Given the description of an element on the screen output the (x, y) to click on. 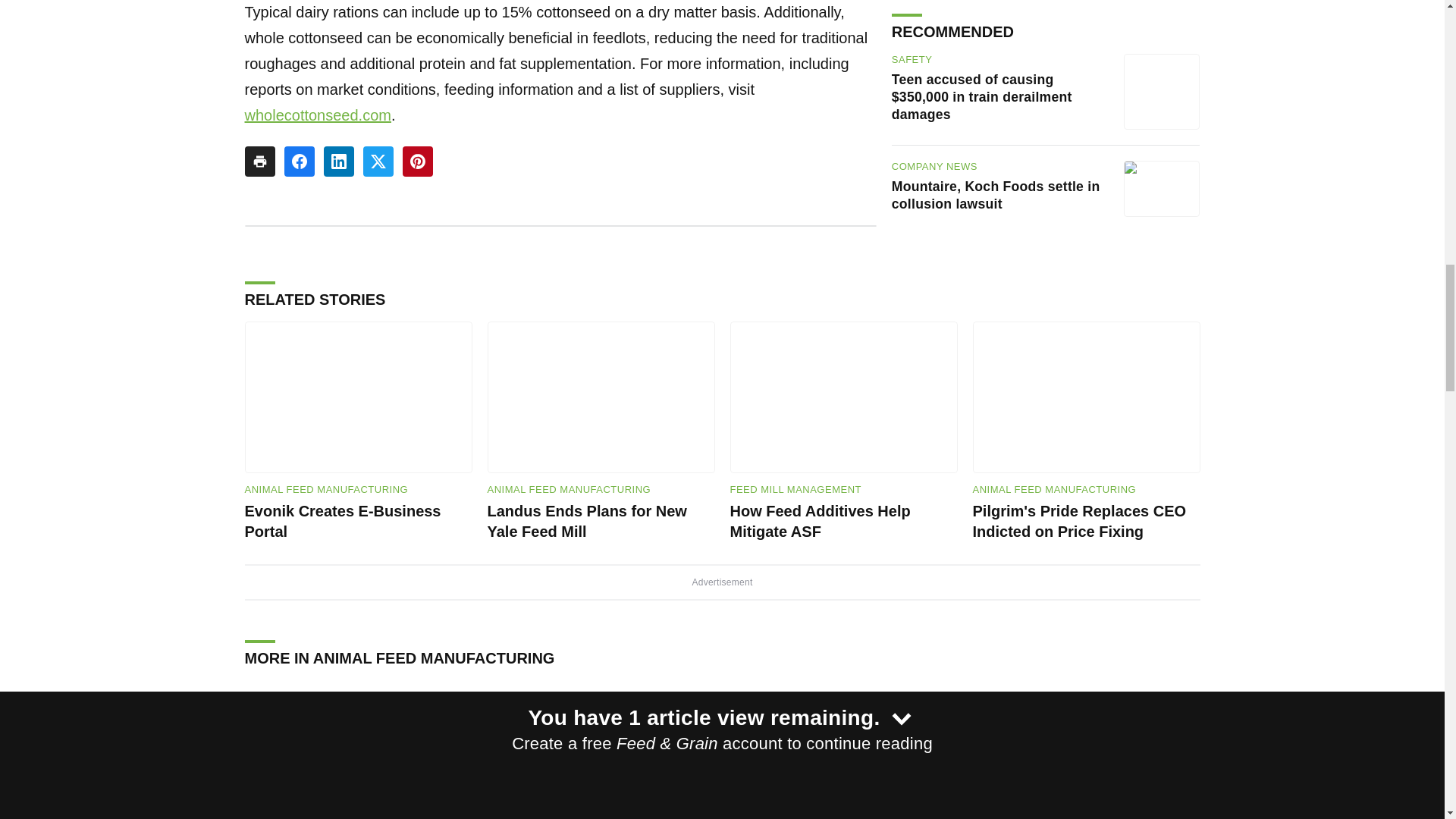
Share To twitter (377, 161)
Share To print (259, 161)
Animal Feed Manufacturing (325, 490)
Share To linkedin (338, 161)
Animal Feed Manufacturing (568, 490)
Share To facebook (298, 161)
Share To pinterest (416, 161)
Animal Feed Manufacturing (1053, 490)
